Given the description of an element on the screen output the (x, y) to click on. 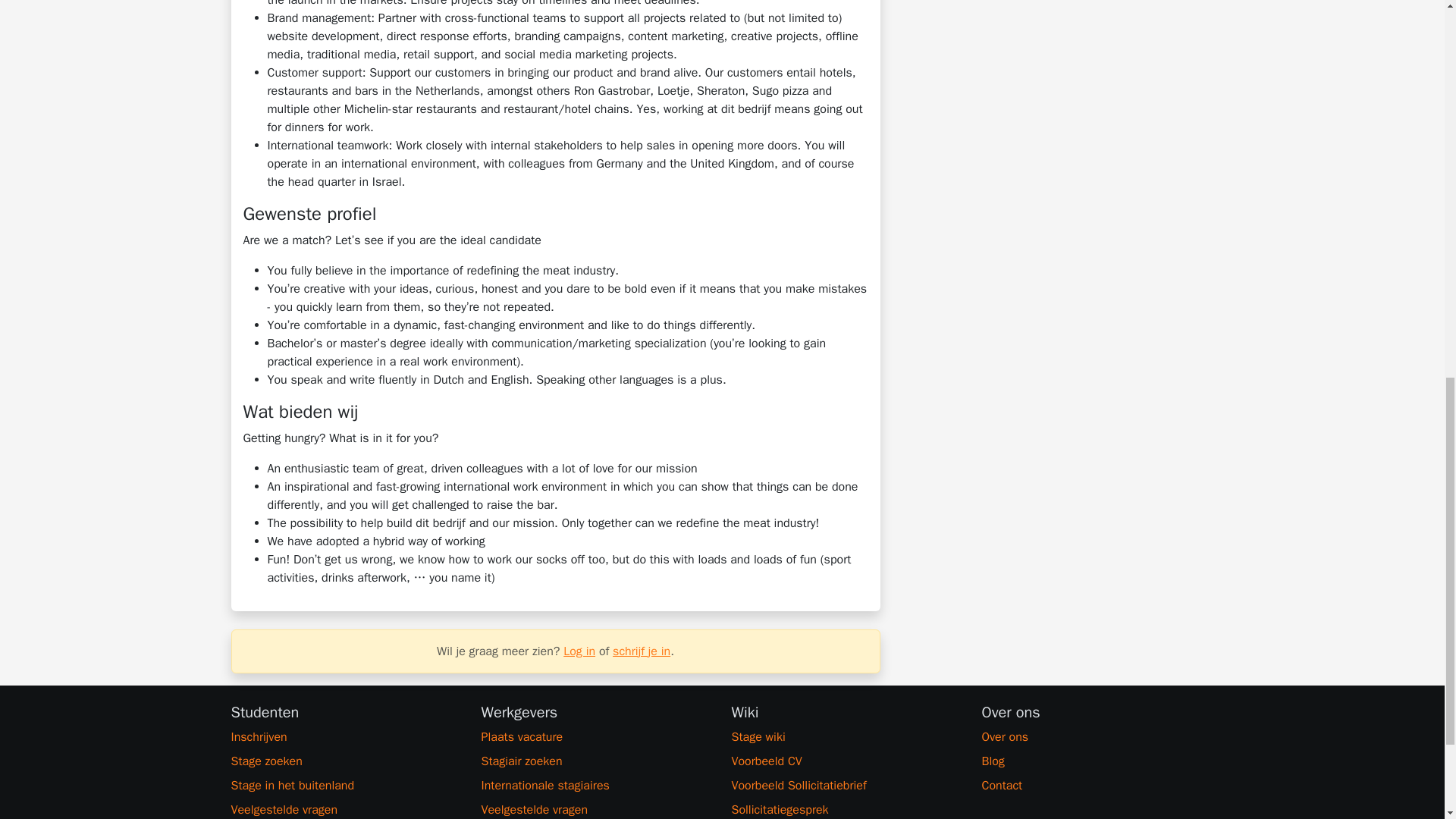
Veelgestelde vragen (596, 809)
Inschrijven (346, 737)
Stage in het buitenland (346, 785)
Stagiair zoeken (596, 761)
schrijf je in (640, 651)
Internationale stagiaires (596, 785)
Voorbeeld CV (846, 761)
Stage wiki (846, 737)
Voorbeeld Sollicitatiebrief (846, 785)
Veelgestelde vragen (346, 809)
Plaats vacature (596, 737)
Log in (579, 651)
Stage zoeken (346, 761)
